Given the description of an element on the screen output the (x, y) to click on. 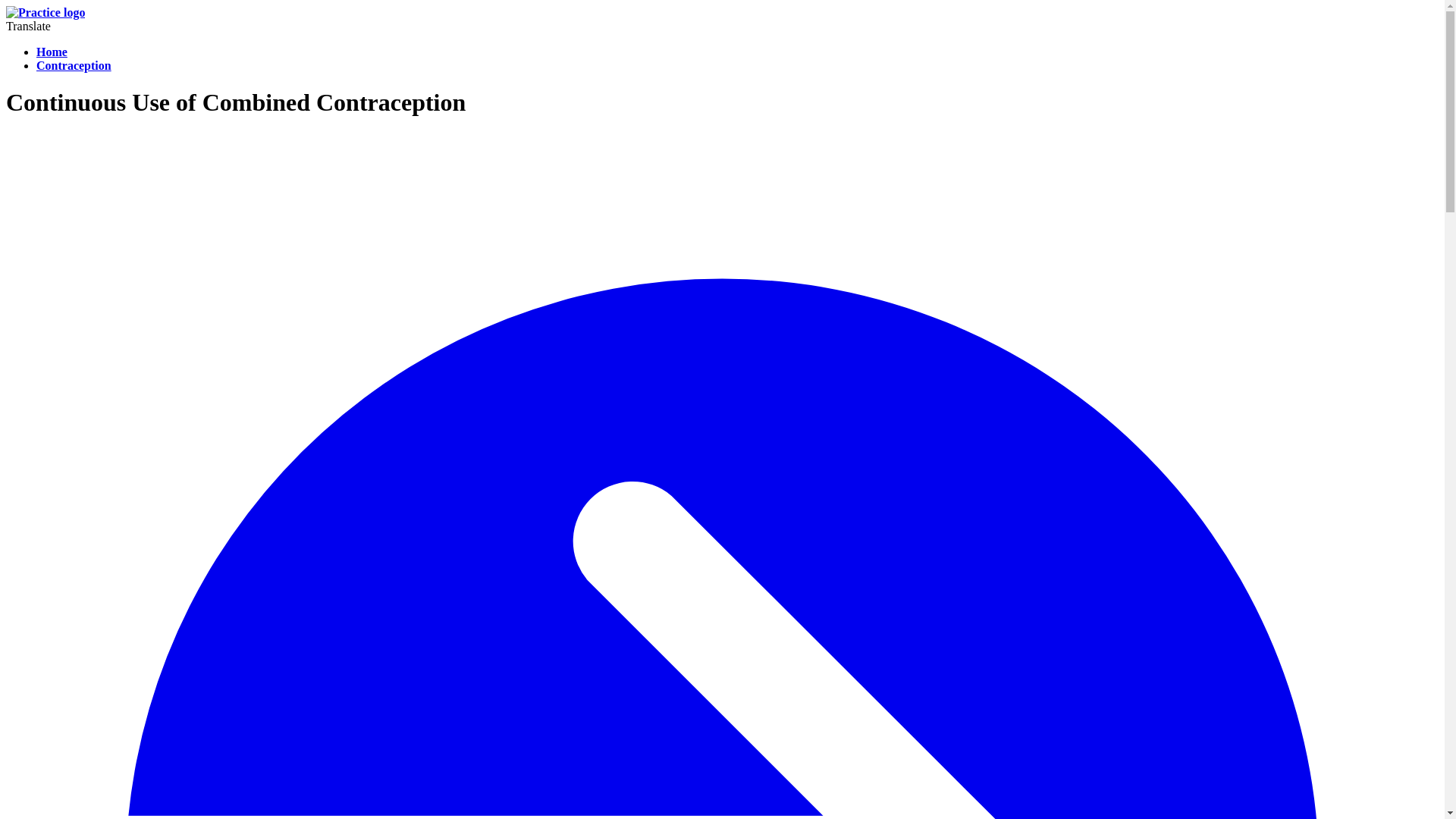
Home (51, 51)
Contraception (74, 65)
